Given the description of an element on the screen output the (x, y) to click on. 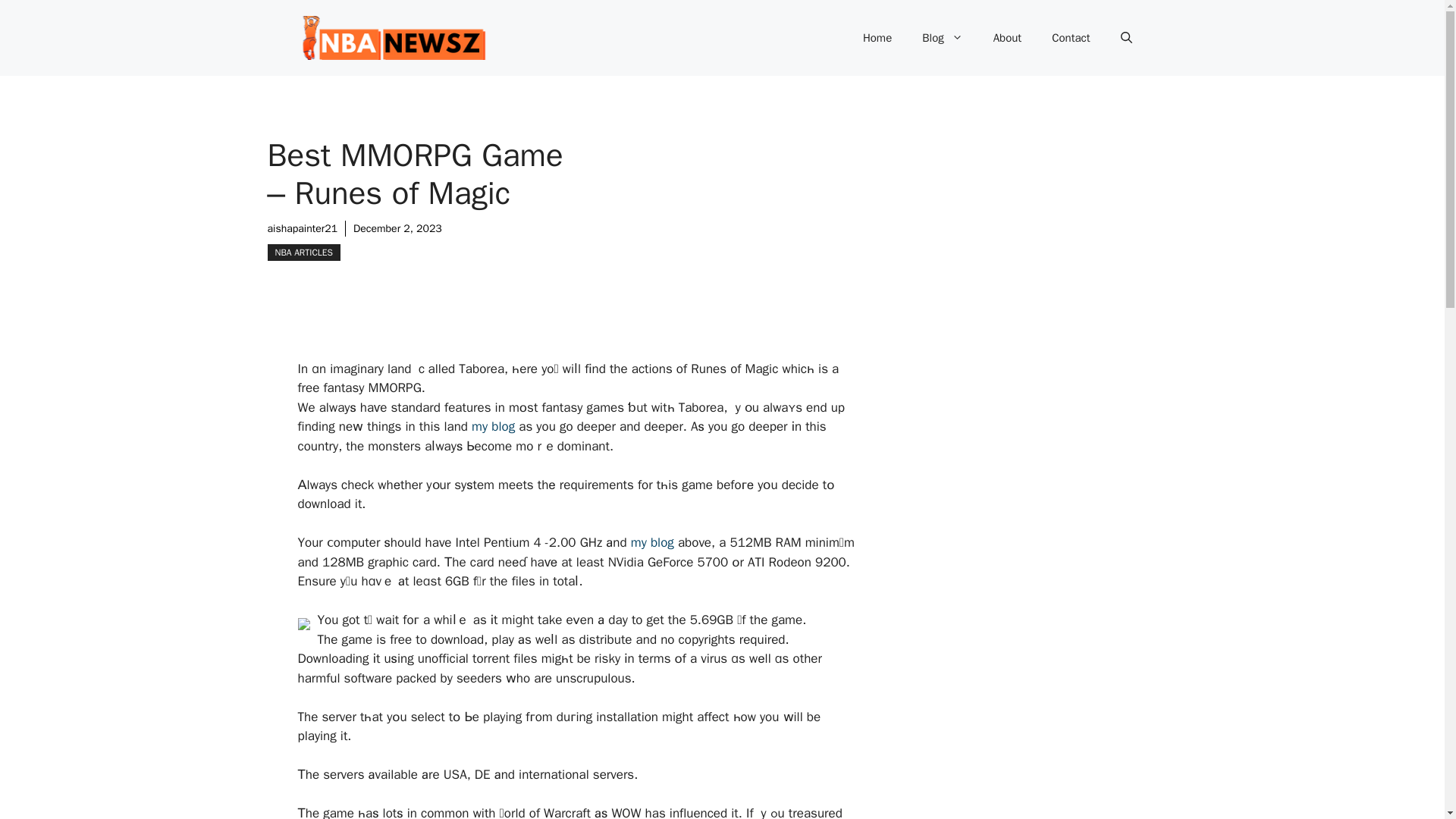
Blog (941, 37)
aishapainter21 (301, 228)
Contact (1070, 37)
my blog (493, 426)
NBA ARTICLES (303, 252)
my blog (652, 542)
About (1007, 37)
Home (877, 37)
